Given the description of an element on the screen output the (x, y) to click on. 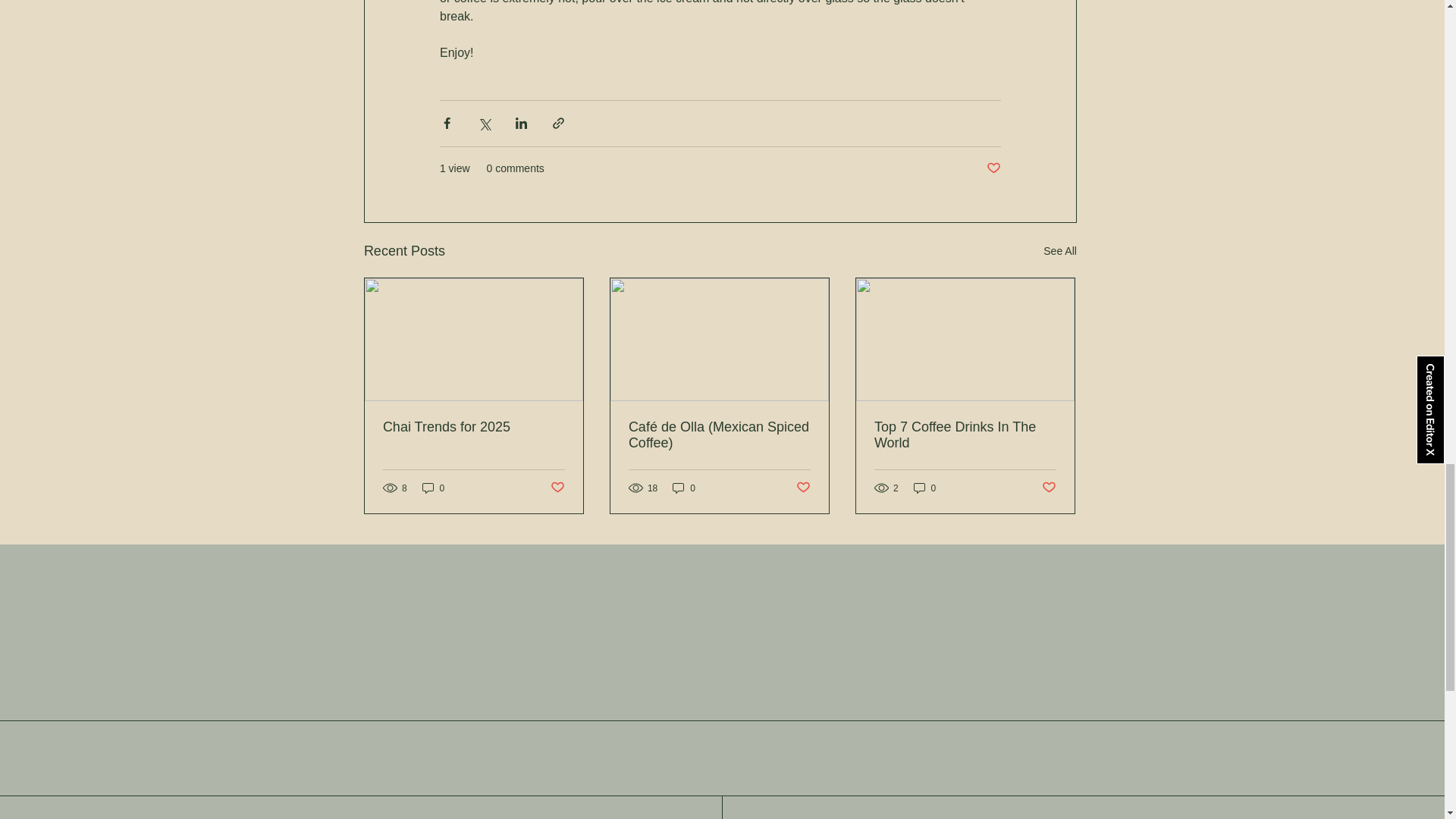
Post not marked as liked (1049, 487)
Chai Trends for 2025 (473, 426)
0 (684, 487)
0 (433, 487)
Post not marked as liked (994, 168)
Top 7 Coffee Drinks In The World (966, 435)
Post not marked as liked (557, 487)
0 (924, 487)
See All (1060, 251)
Post not marked as liked (803, 487)
